Given the description of an element on the screen output the (x, y) to click on. 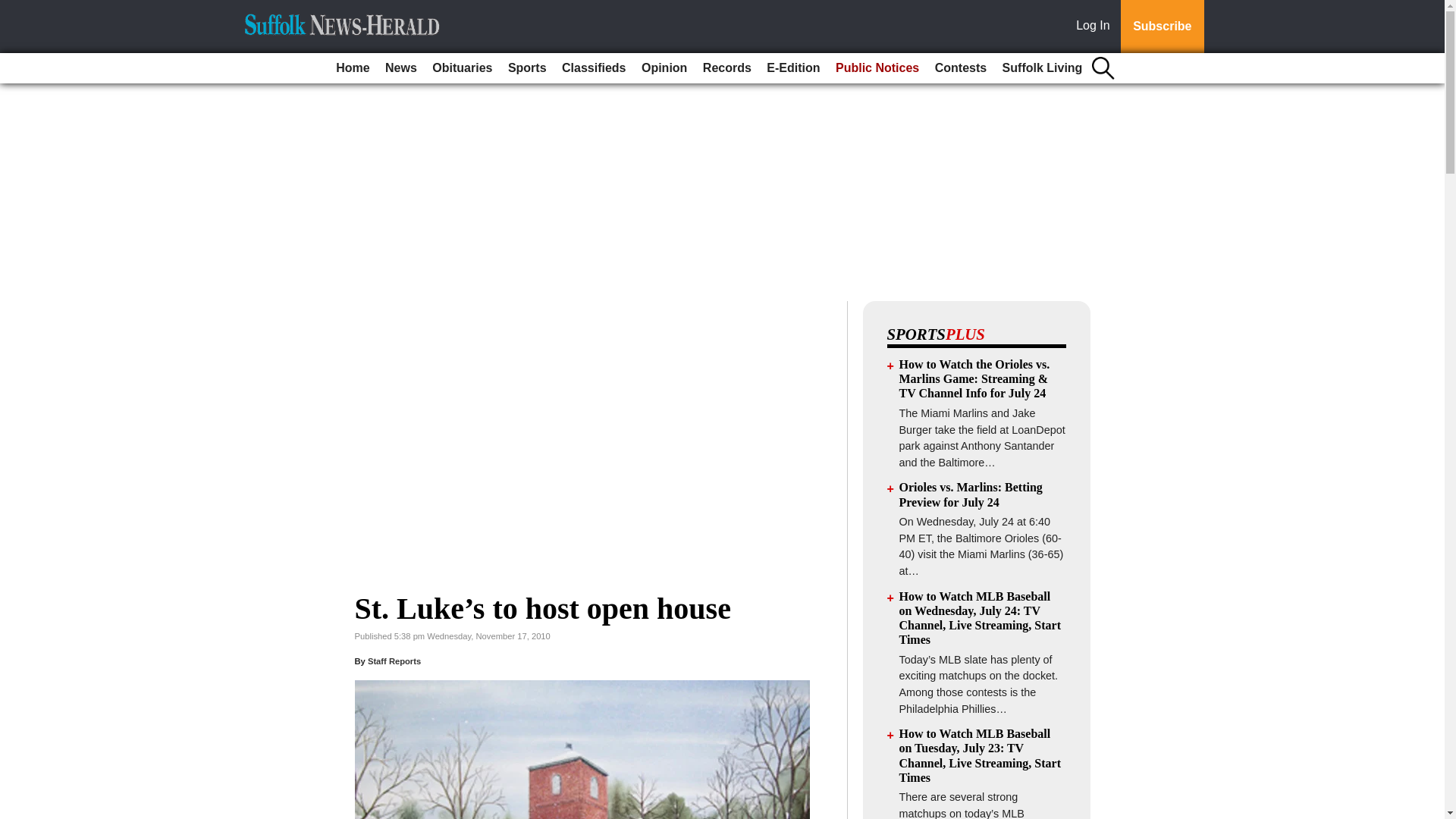
Contests (960, 68)
Sports (527, 68)
Records (727, 68)
Suffolk Living (1042, 68)
Obituaries (461, 68)
Subscribe (1162, 26)
Orioles vs. Marlins: Betting Preview for July 24 (970, 493)
Log In (1095, 26)
Public Notices (876, 68)
Home (352, 68)
News (400, 68)
Classifieds (593, 68)
E-Edition (792, 68)
